Given the description of an element on the screen output the (x, y) to click on. 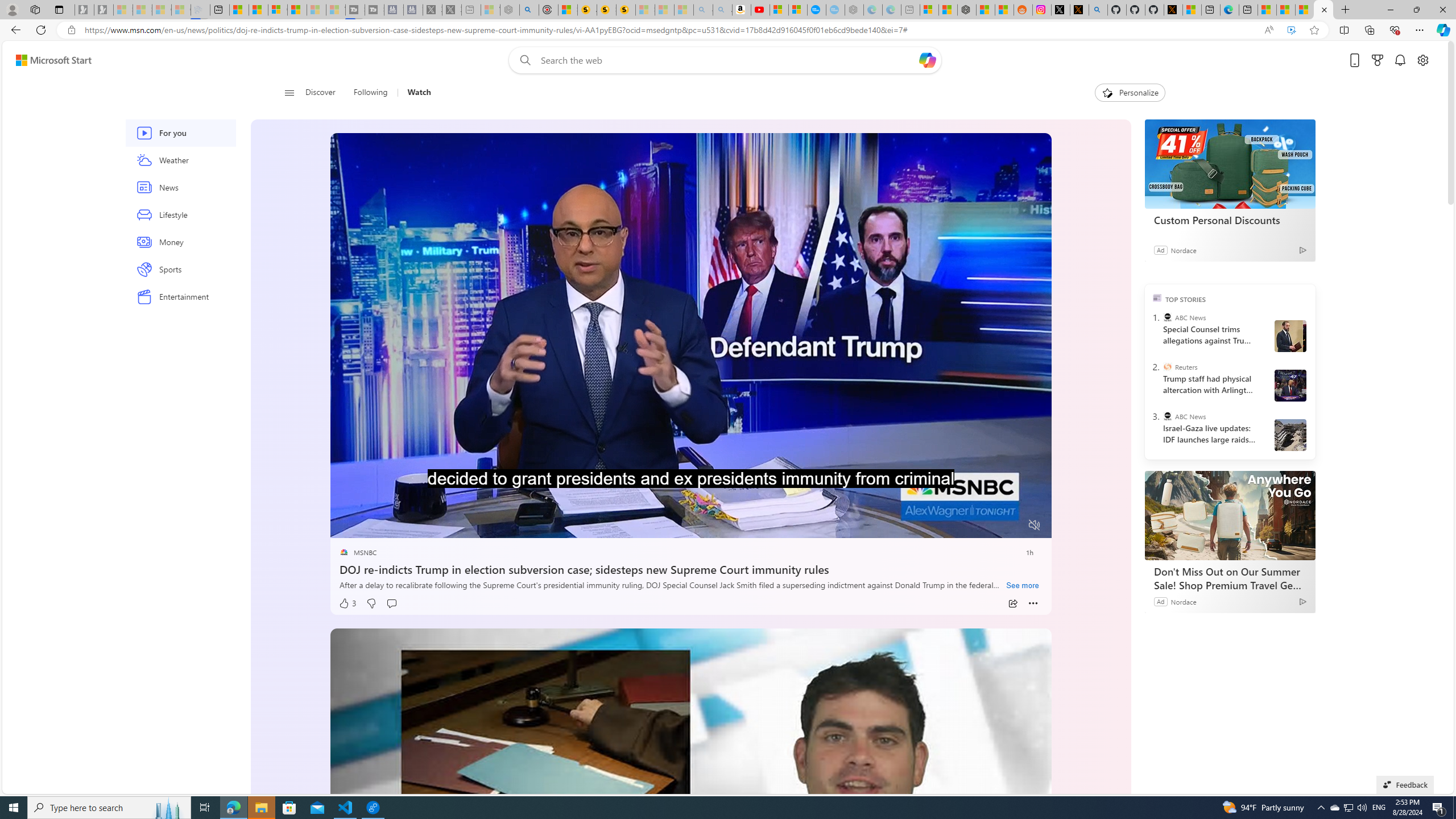
Custom Personal Discounts (1230, 219)
Welcome to Microsoft Edge (1229, 9)
Share (1012, 603)
Watch (418, 92)
Skip to footer (46, 59)
Minimize (1390, 9)
Close (1442, 9)
Add this page to favorites (Ctrl+D) (1314, 29)
Back (13, 29)
